Given the description of an element on the screen output the (x, y) to click on. 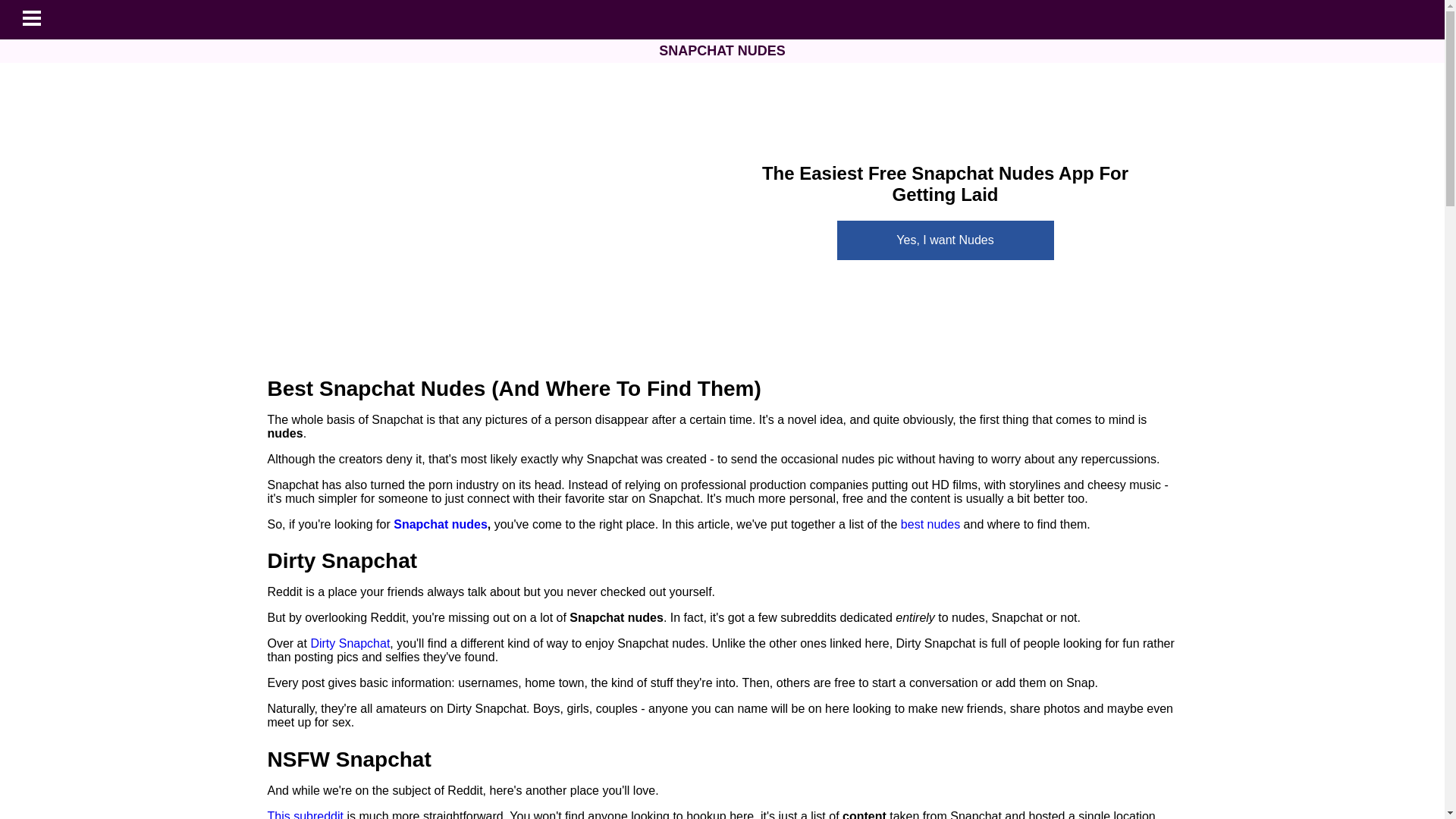
This subreddit (304, 814)
Dirty Snapchat (350, 643)
Snapchat nudes (440, 523)
Yes, I want Nudes (945, 240)
best nudes (930, 523)
